Given the description of an element on the screen output the (x, y) to click on. 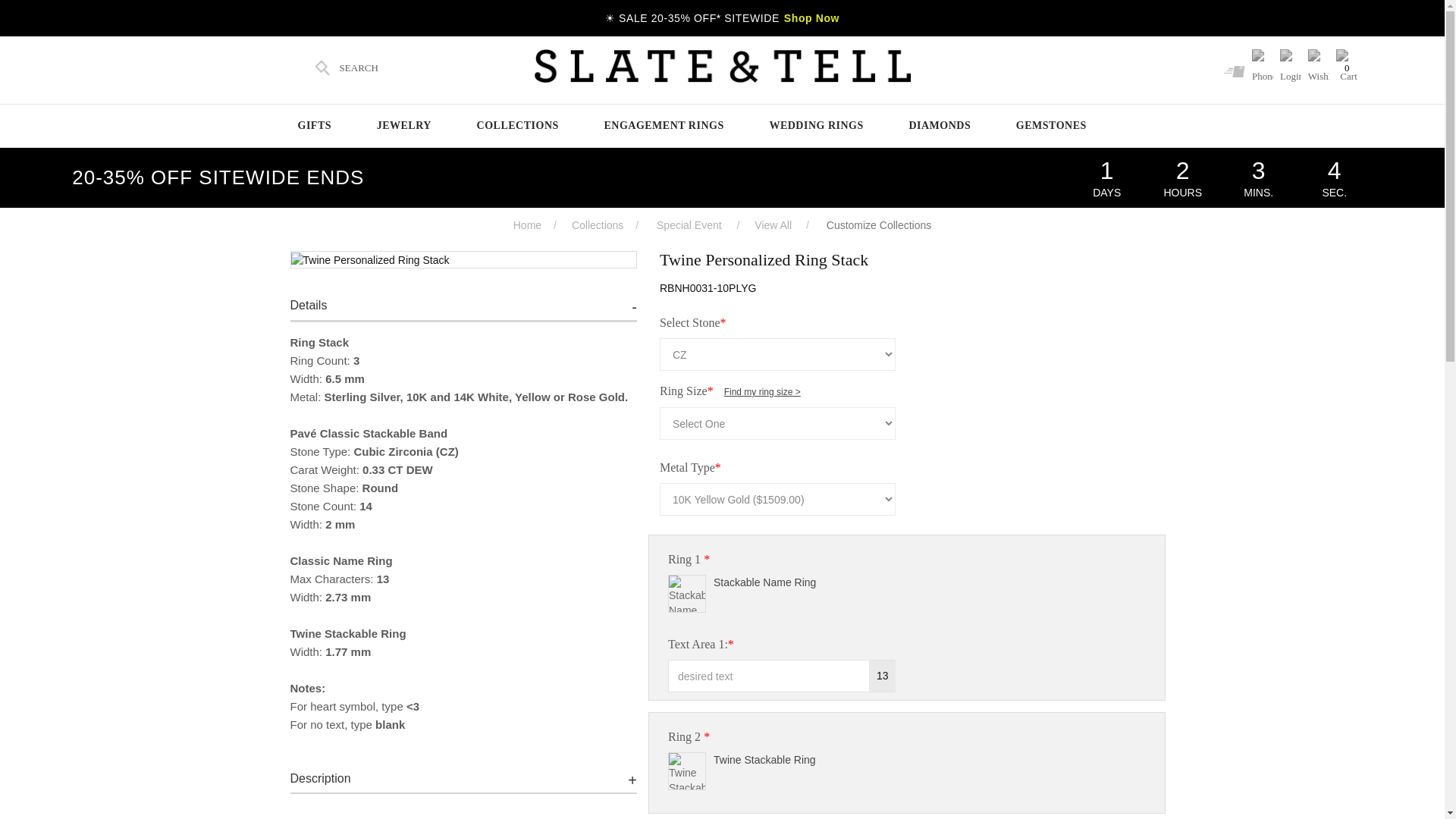
SEARCH (344, 68)
Search (344, 68)
Shop Now (812, 18)
Slate and Tell (721, 66)
